Given the description of an element on the screen output the (x, y) to click on. 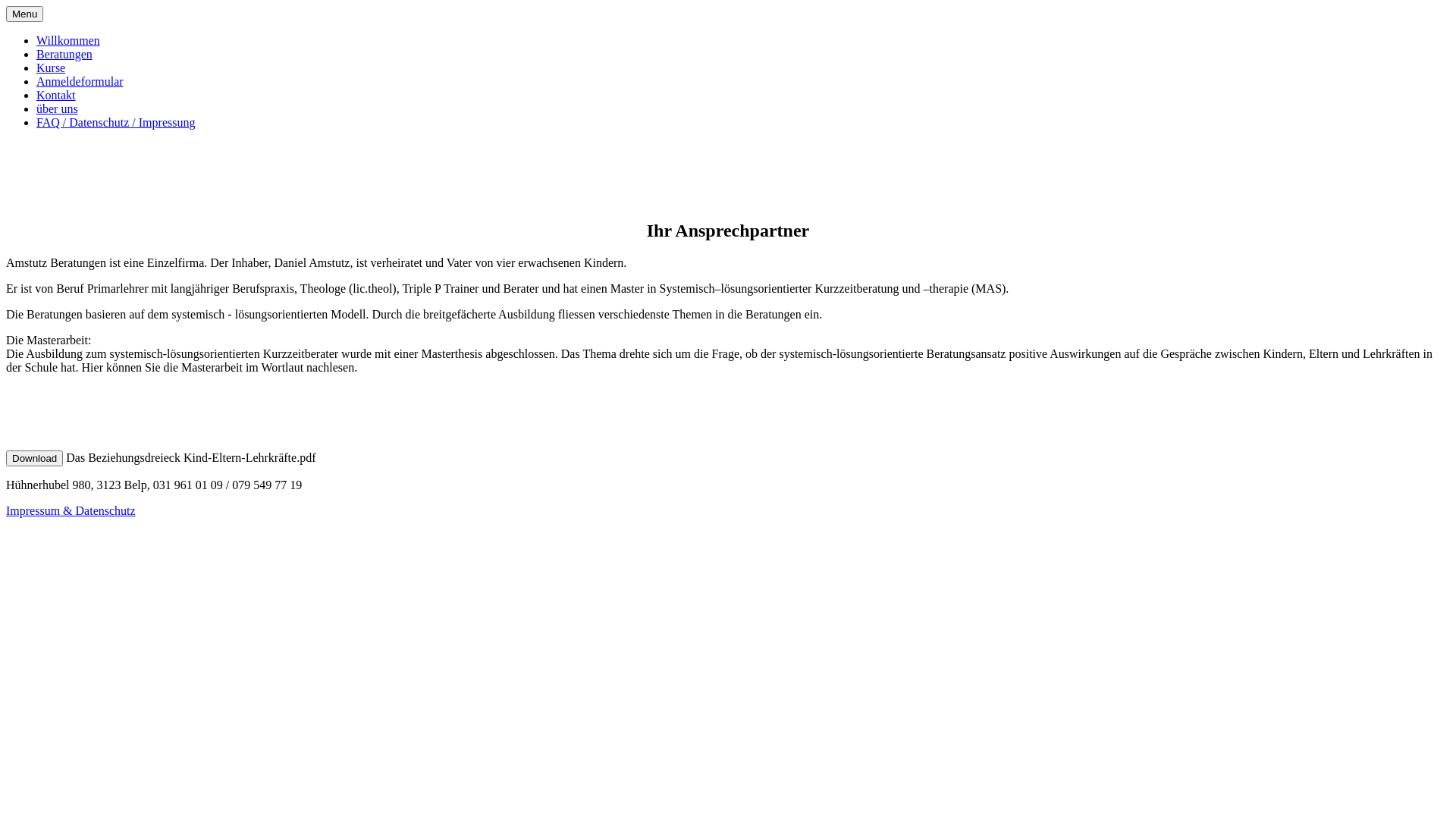
Willkommen Element type: text (68, 40)
FAQ / Datenschutz / Impressung Element type: text (115, 122)
Download Element type: text (34, 458)
Anmeldeformular Element type: text (79, 81)
Kurse Element type: text (50, 67)
Beratungen Element type: text (64, 53)
Menu Element type: text (24, 13)
Impressum & Datenschutz Element type: text (70, 510)
Kontakt Element type: text (55, 94)
